Given the description of an element on the screen output the (x, y) to click on. 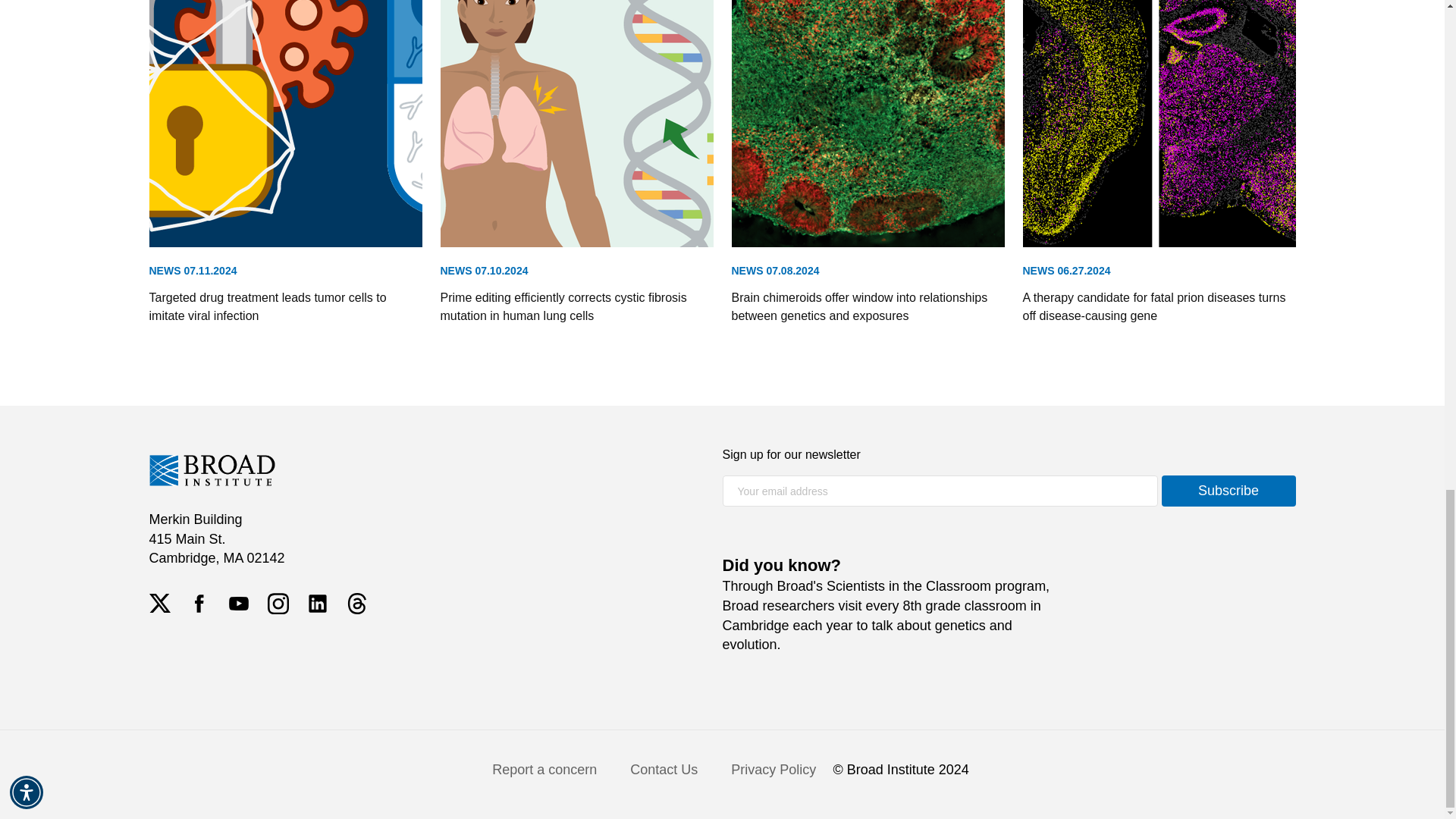
Subscribe (1228, 490)
